Given the description of an element on the screen output the (x, y) to click on. 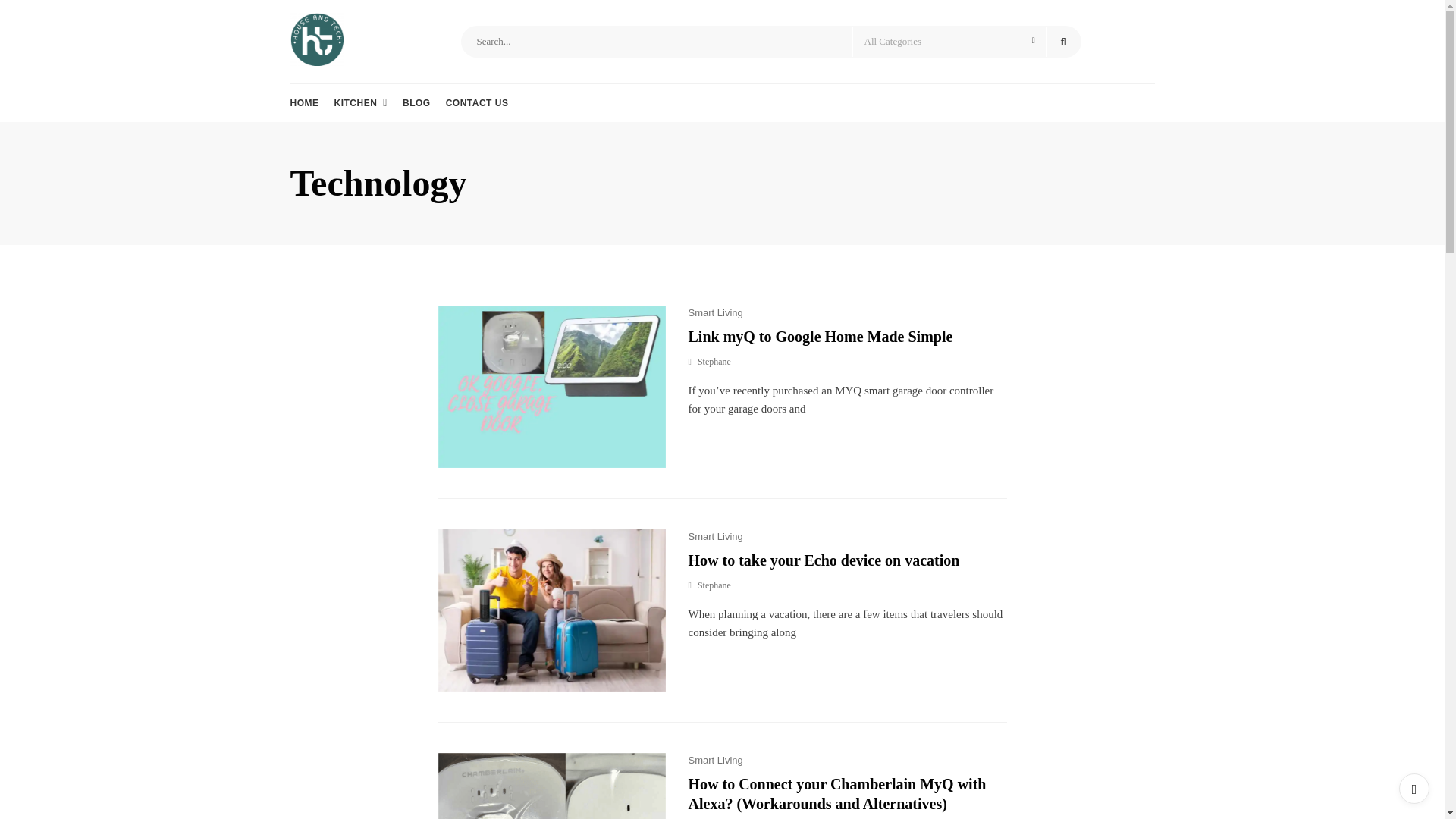
CONTACT US (476, 103)
KITCHEN (360, 103)
BLOG (416, 103)
Stephane (709, 361)
Smart Living (715, 312)
HOME (303, 103)
Stephane (709, 585)
Link myQ to Google Home Made Simple (820, 336)
Smart Living (715, 536)
0897174b e5f1 4364 ad1f e1d4abb9199f (551, 785)
How to take your Echo device on vacation (823, 560)
echo on vacation (551, 610)
Smart Living (715, 759)
